Given the description of an element on the screen output the (x, y) to click on. 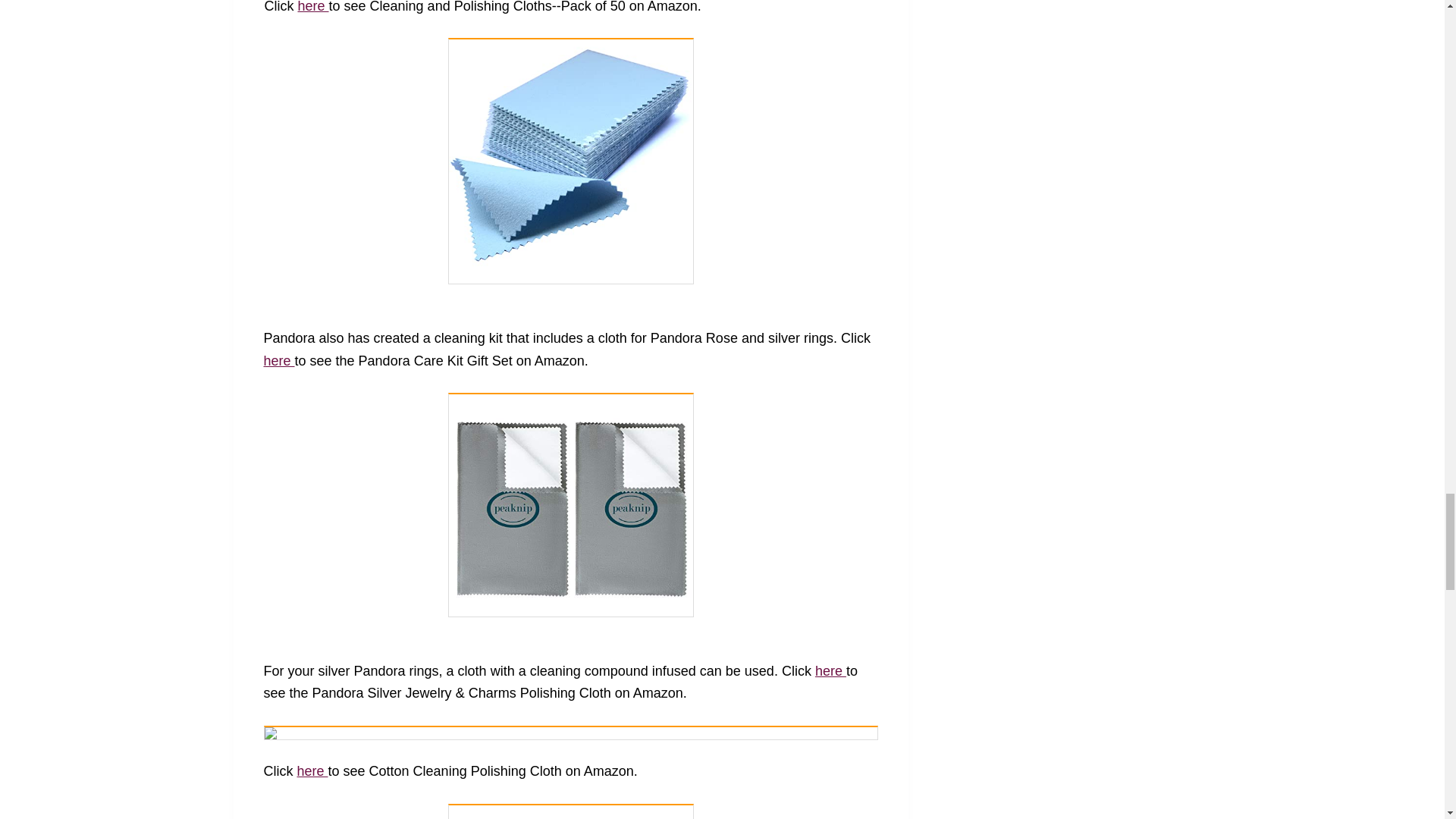
here (313, 6)
here (279, 360)
